Given the description of an element on the screen output the (x, y) to click on. 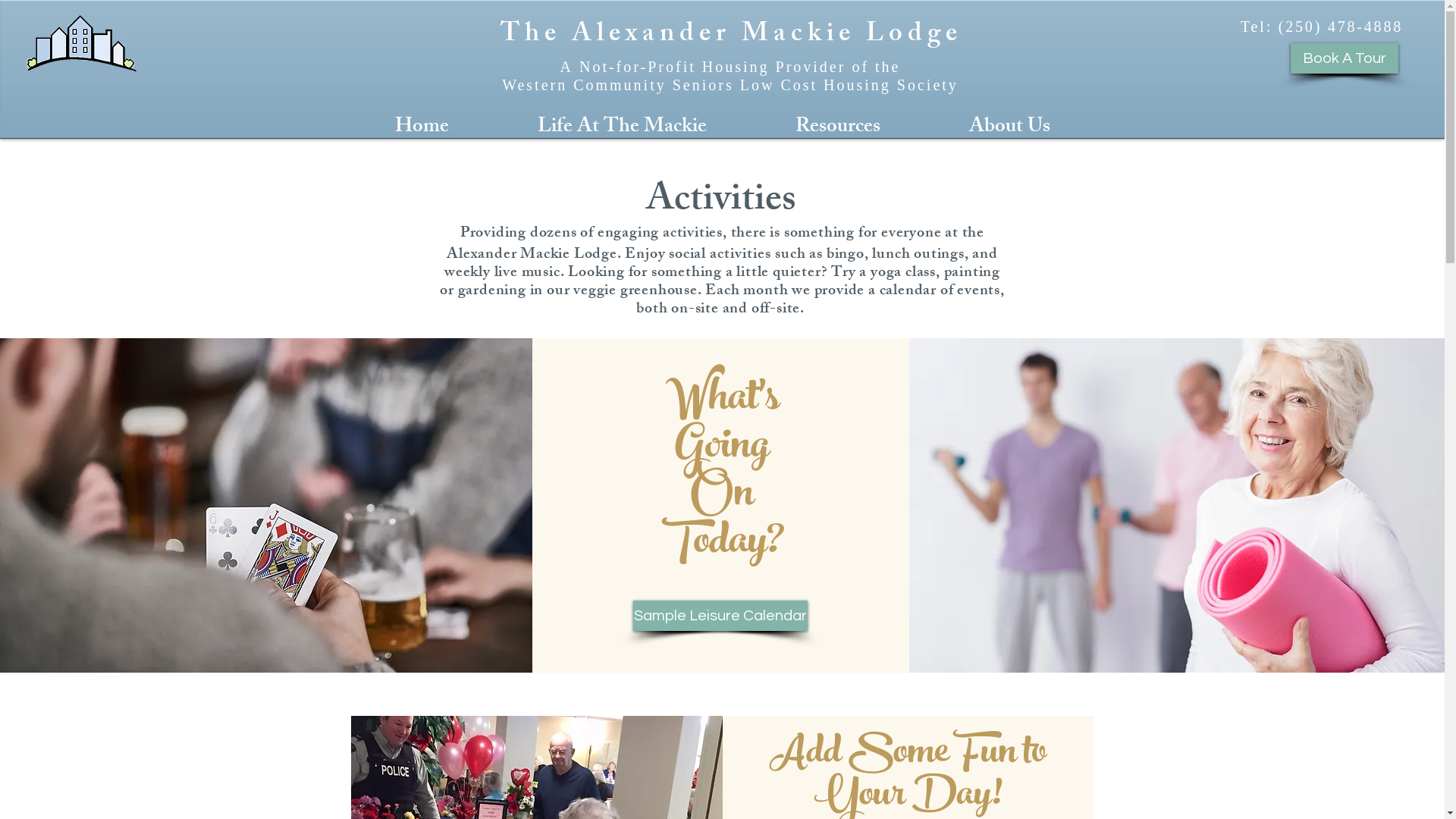
Book A Tour Element type: text (1344, 58)
Home Element type: text (421, 125)
Sample Leisure Calendar Element type: text (720, 615)
The Alexander Mackie Lodge Element type: text (731, 35)
